Given the description of an element on the screen output the (x, y) to click on. 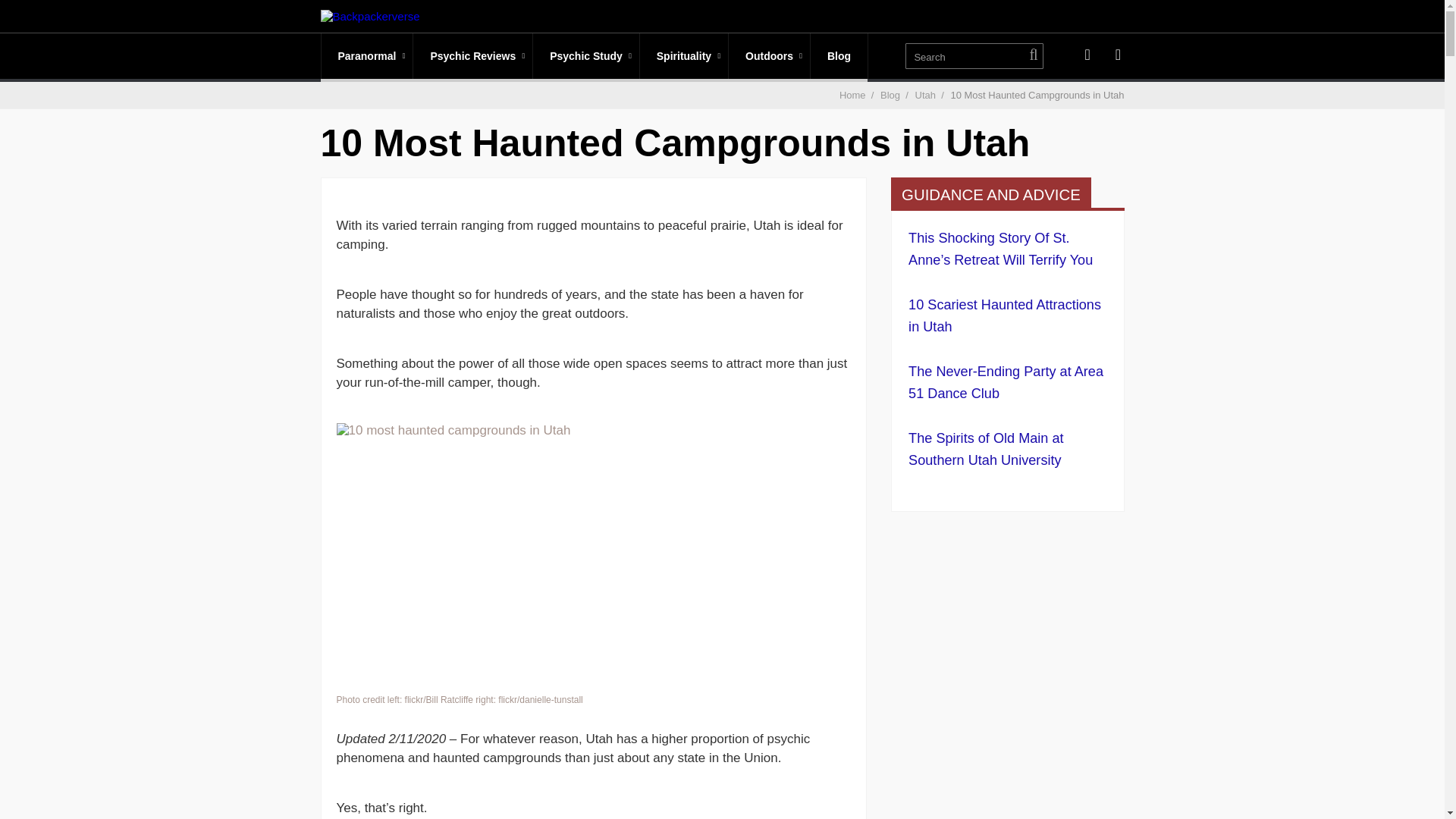
Psychic Reviews (472, 55)
Paranormal (367, 55)
Psychic Study (585, 55)
